Given the description of an element on the screen output the (x, y) to click on. 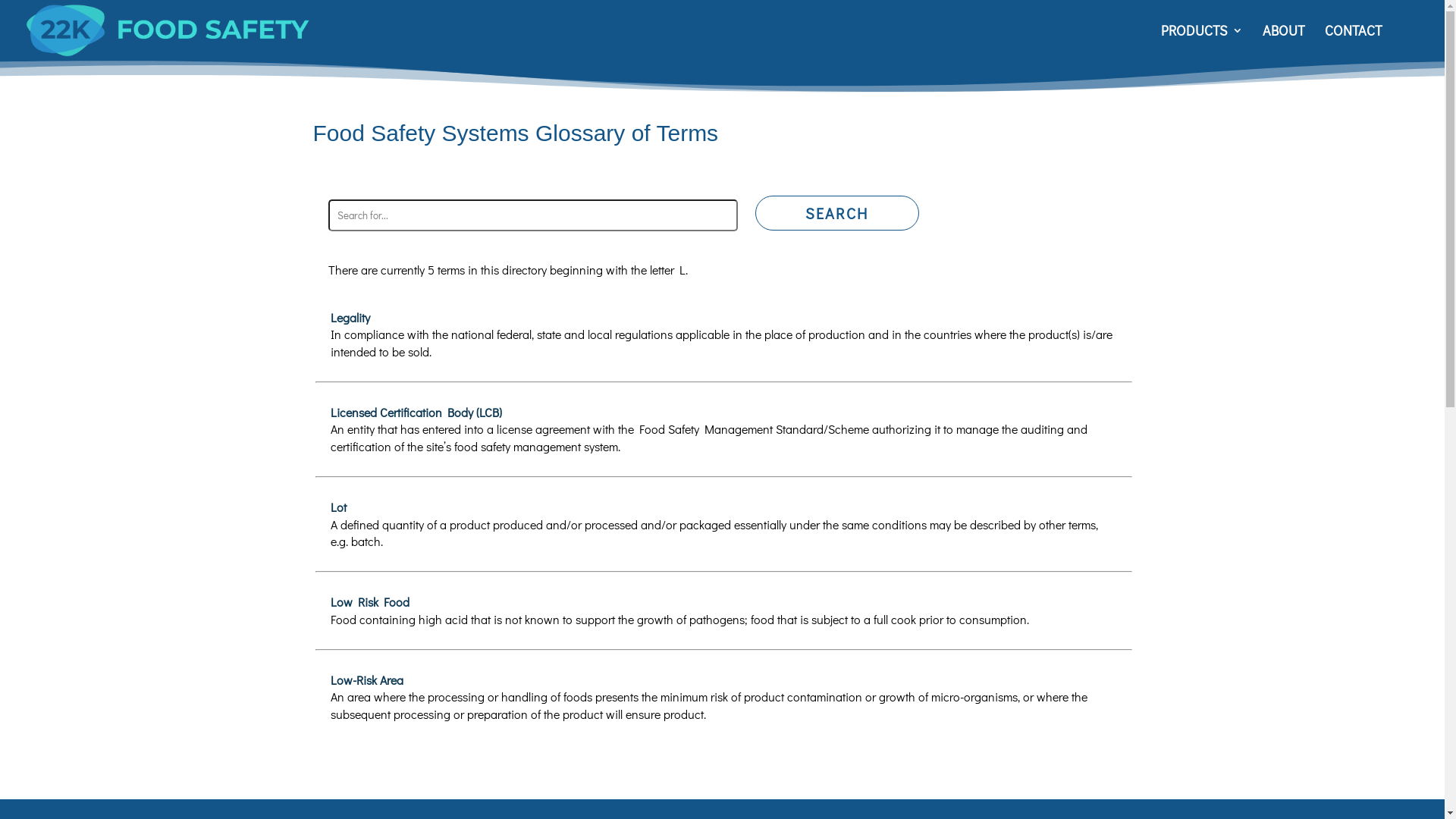
Search Element type: text (837, 212)
ABOUT Element type: text (1283, 42)
PRODUCTS Element type: text (1201, 42)
CONTACT Element type: text (1353, 42)
